Given the description of an element on the screen output the (x, y) to click on. 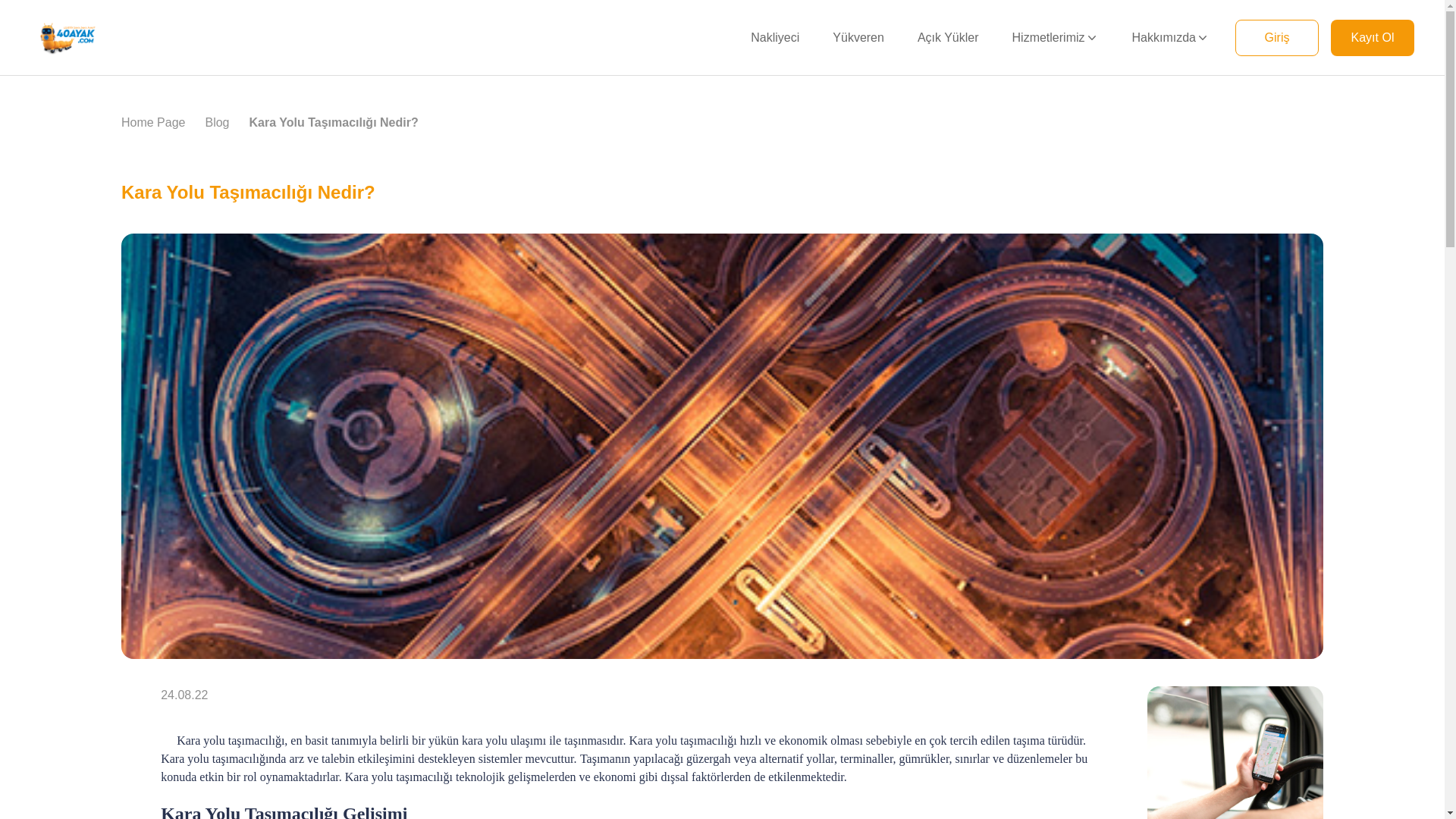
Copy Link Element type: hover (131, 693)
Home Page Element type: text (153, 123)
Hizmetlerimiz Element type: text (1055, 37)
40Ayak logo Element type: hover (66, 37)
Blog Element type: text (216, 123)
Nakliyeci Element type: text (774, 37)
